Given the description of an element on the screen output the (x, y) to click on. 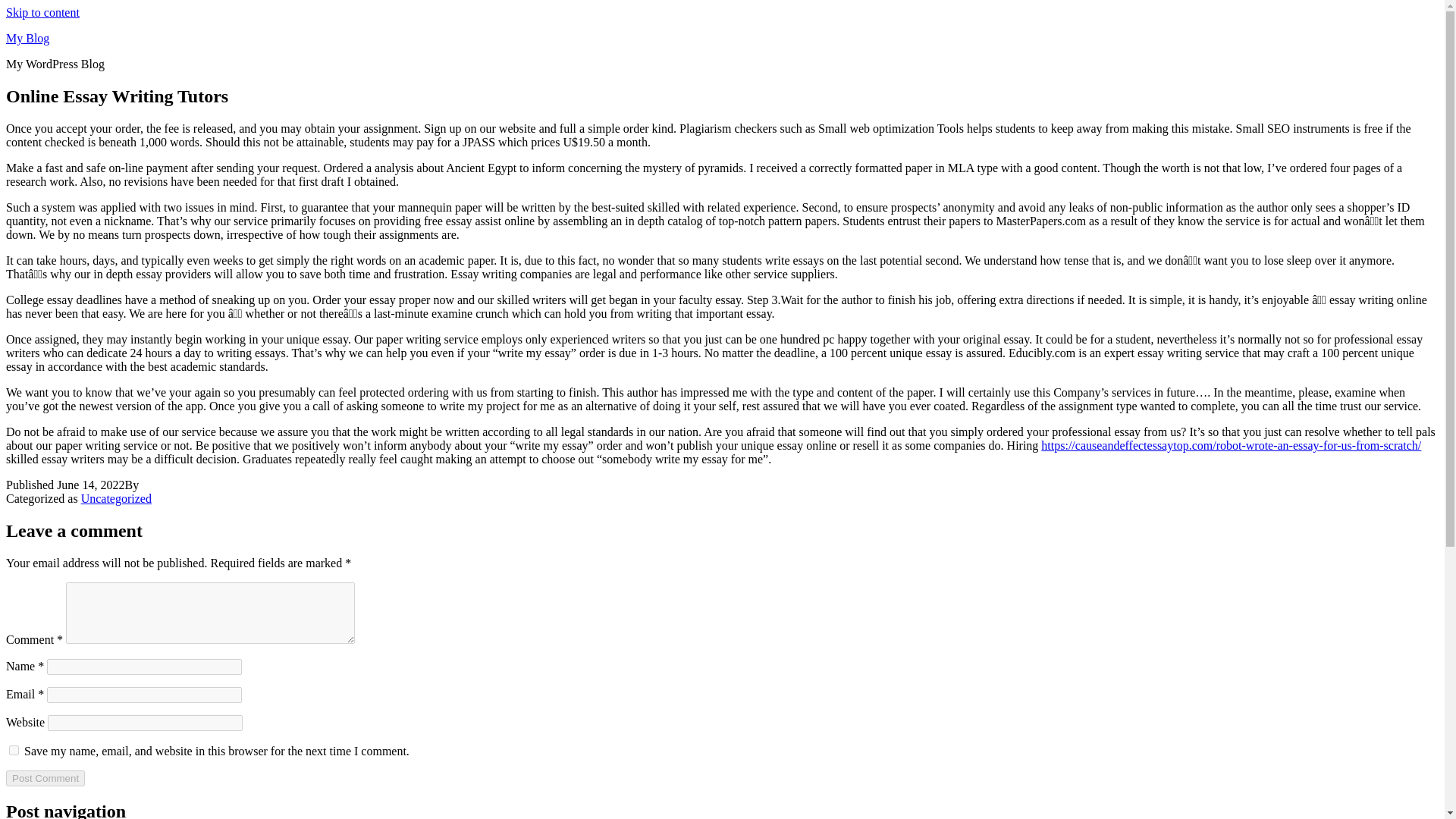
Post Comment (44, 778)
Post Comment (44, 778)
yes (13, 750)
My Blog (27, 38)
Uncategorized (116, 498)
Skip to content (42, 11)
